Given the description of an element on the screen output the (x, y) to click on. 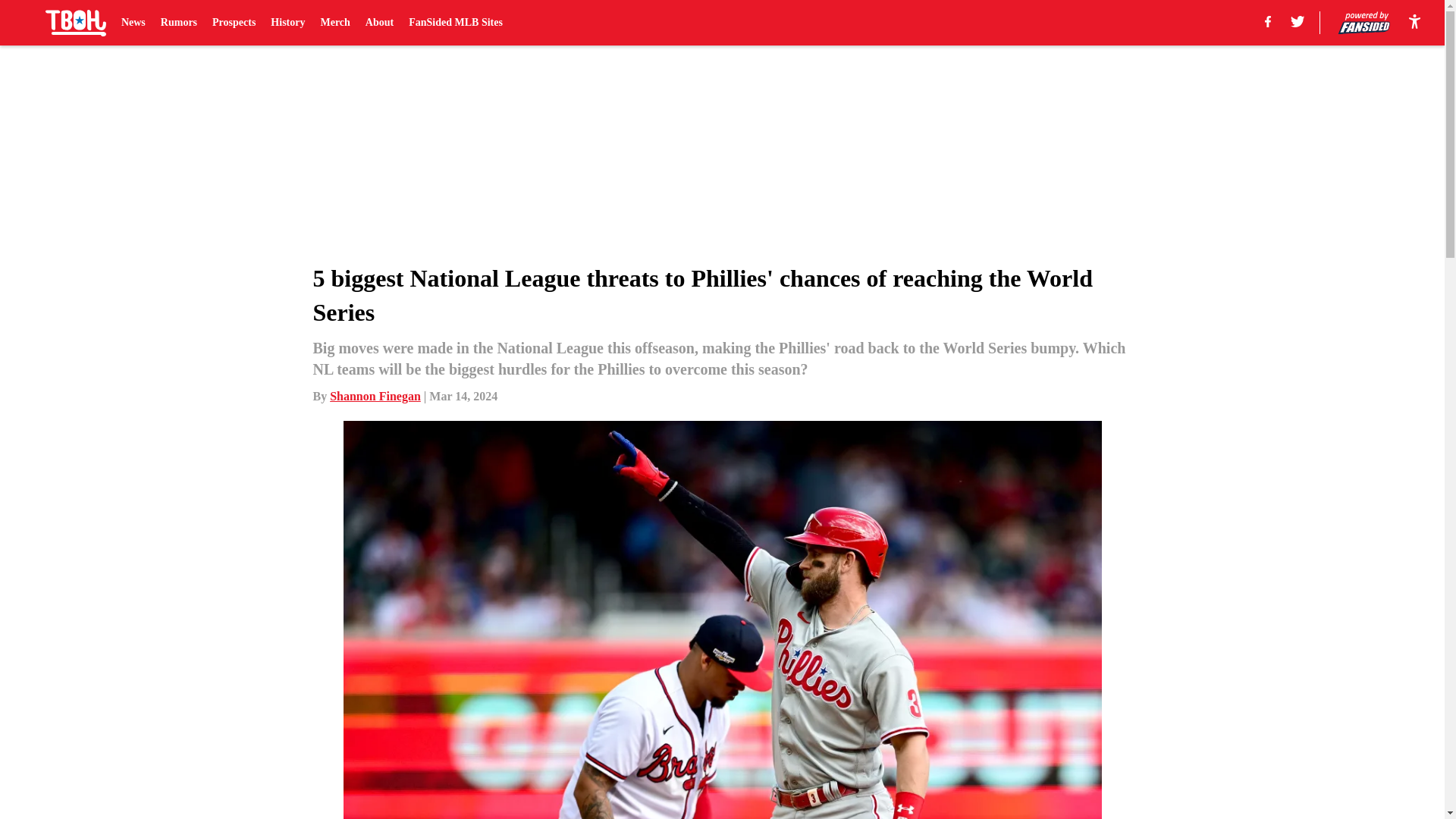
About (379, 22)
Prospects (234, 22)
History (287, 22)
Rumors (178, 22)
FanSided MLB Sites (455, 22)
Merch (334, 22)
Shannon Finegan (375, 395)
News (132, 22)
